Given the description of an element on the screen output the (x, y) to click on. 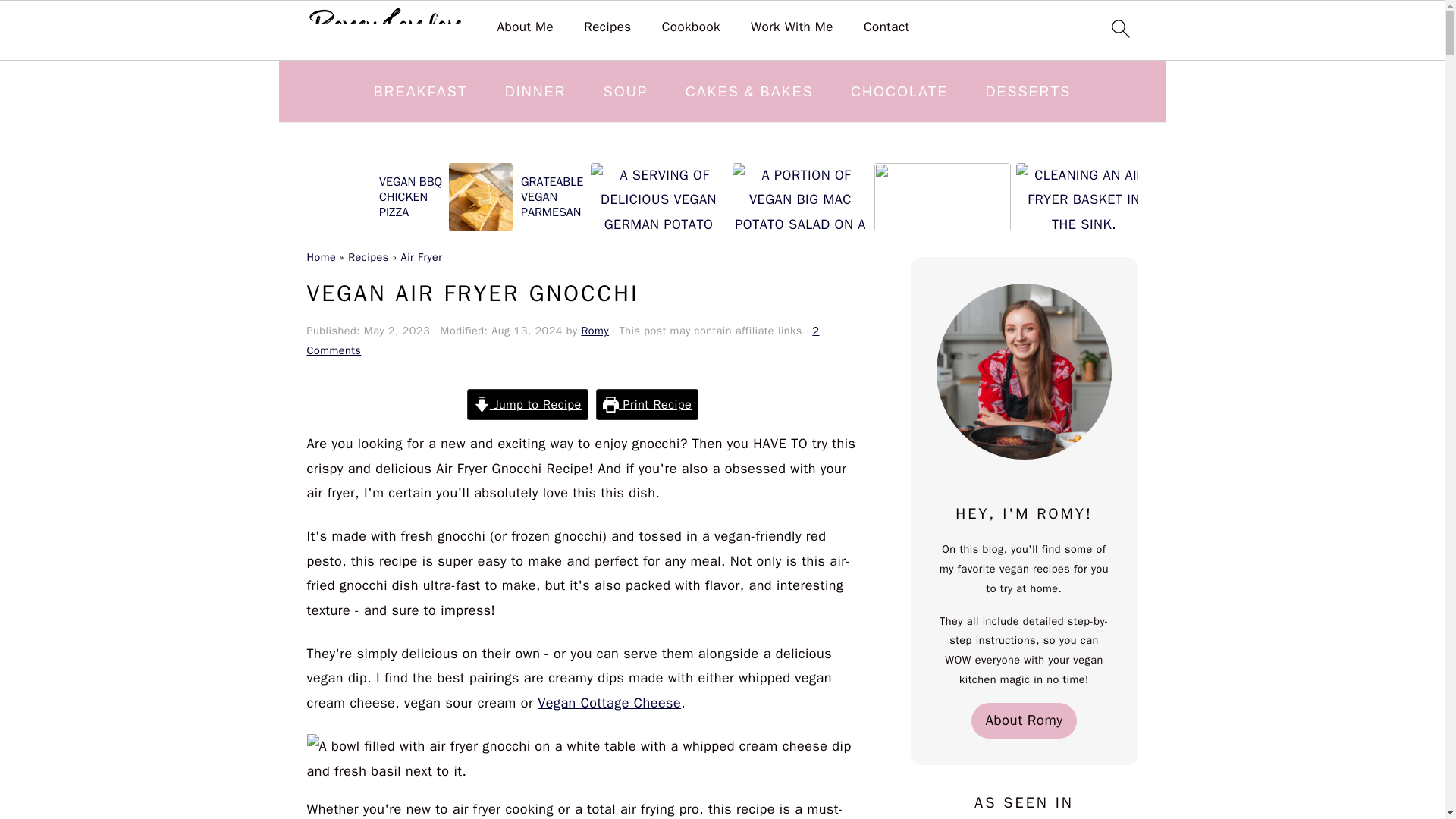
DINNER (535, 91)
Cookbook (691, 27)
Work With Me (791, 27)
search icon (1119, 28)
BREAKFAST (420, 91)
SOUP (625, 91)
CHOCOLATE (898, 91)
DESSERTS (1028, 91)
Contact (886, 27)
